Given the description of an element on the screen output the (x, y) to click on. 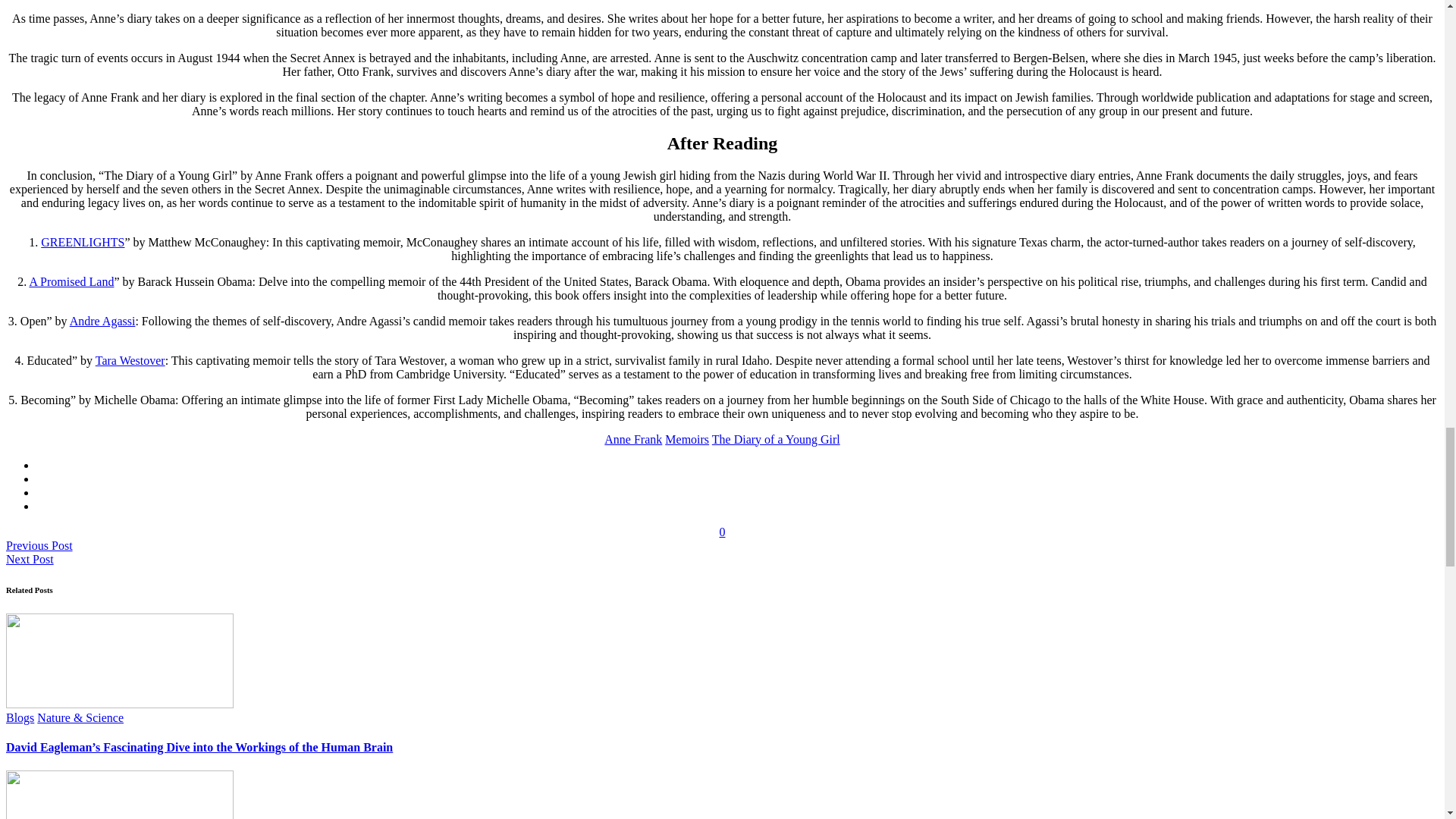
Memoirs (687, 439)
Tara Westover (130, 359)
Andre Agassi (102, 320)
GREENLIGHTS (81, 241)
Anne Frank (633, 439)
A Promised Land (71, 281)
The Diary of a Young Girl (775, 439)
